Given the description of an element on the screen output the (x, y) to click on. 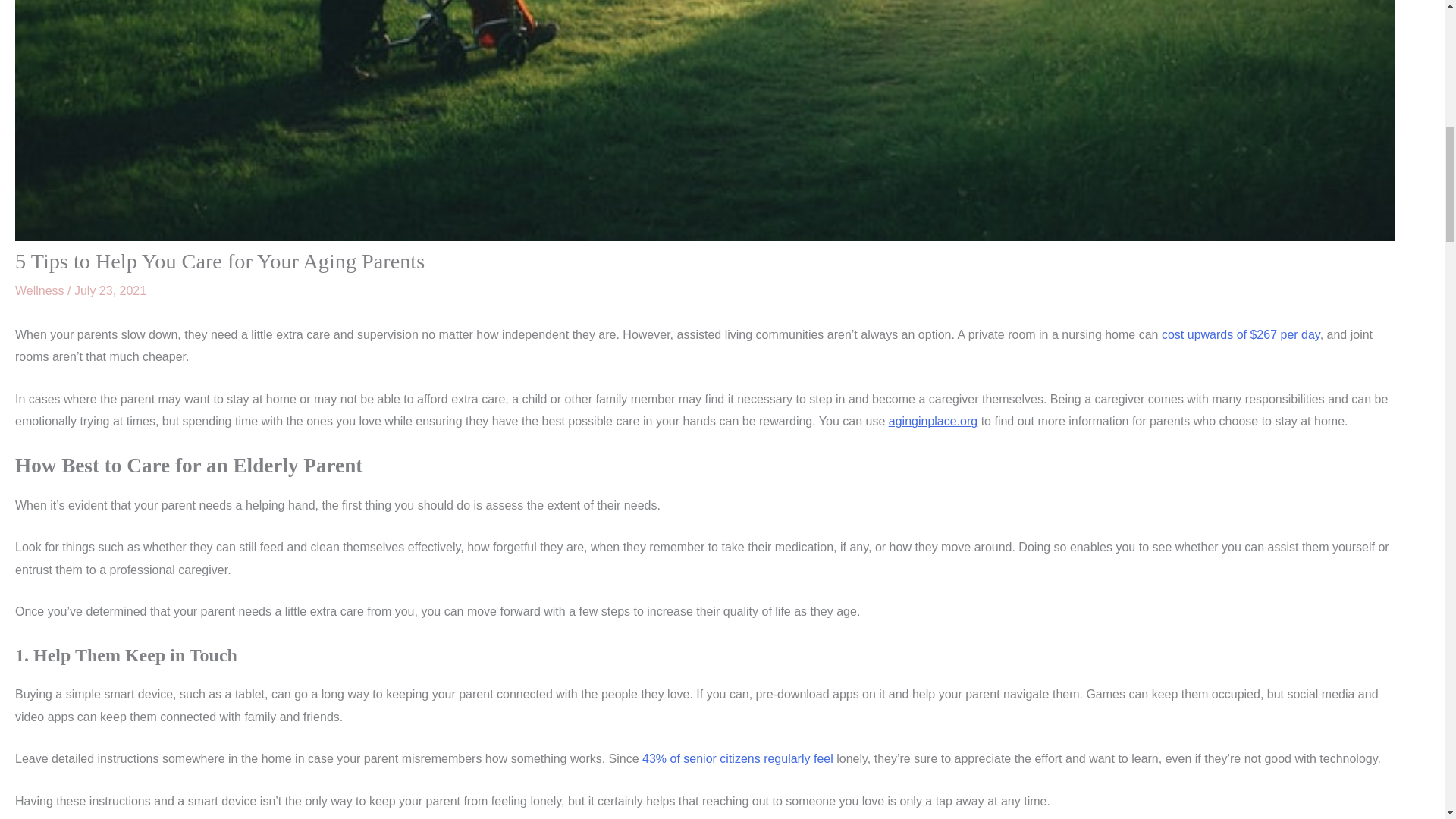
Wellness (39, 290)
aginginplace.org (932, 420)
